Given the description of an element on the screen output the (x, y) to click on. 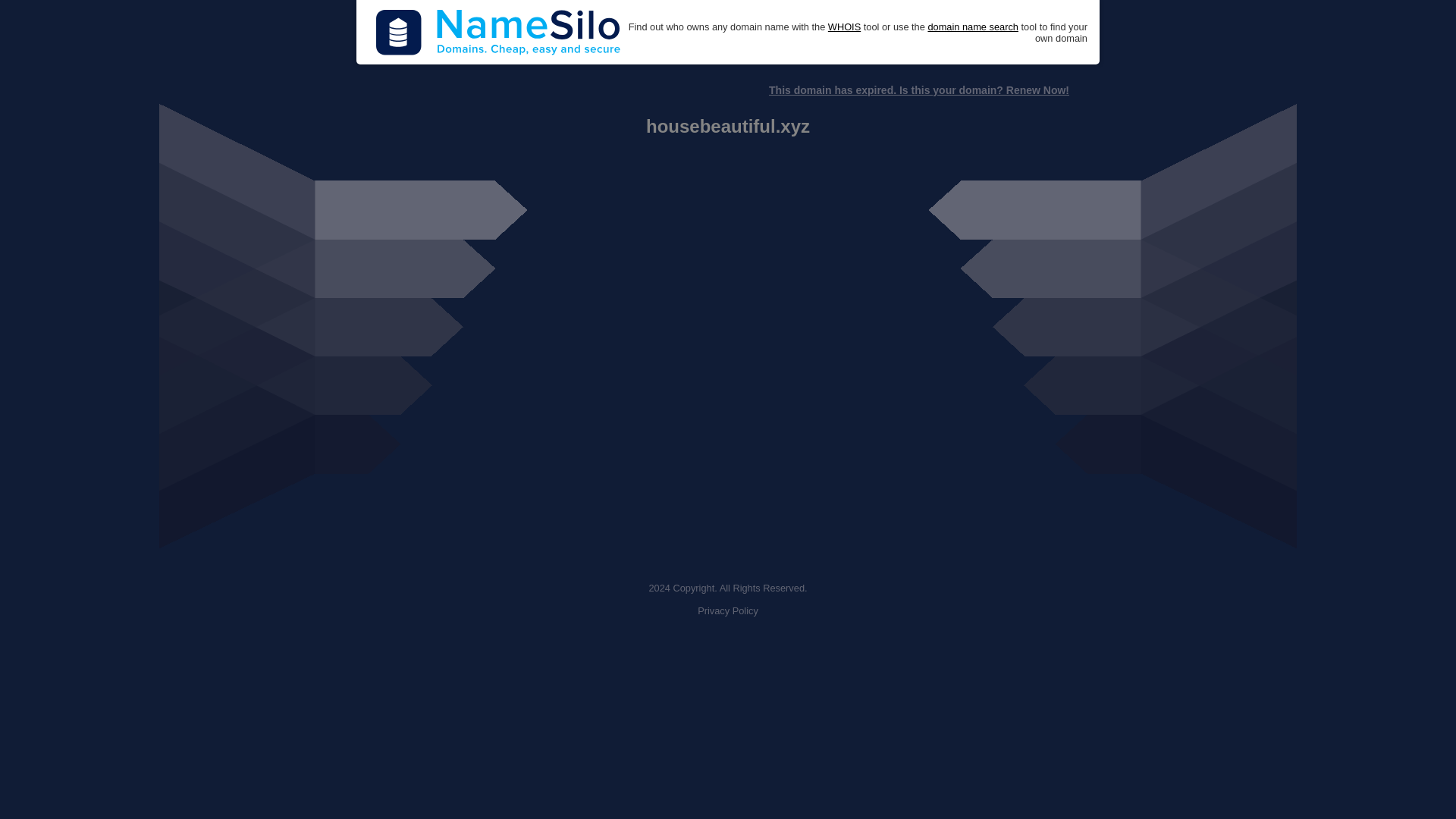
WHOIS (844, 26)
This domain has expired. Is this your domain? Renew Now! (918, 90)
Privacy Policy (727, 610)
domain name search (972, 26)
